Given the description of an element on the screen output the (x, y) to click on. 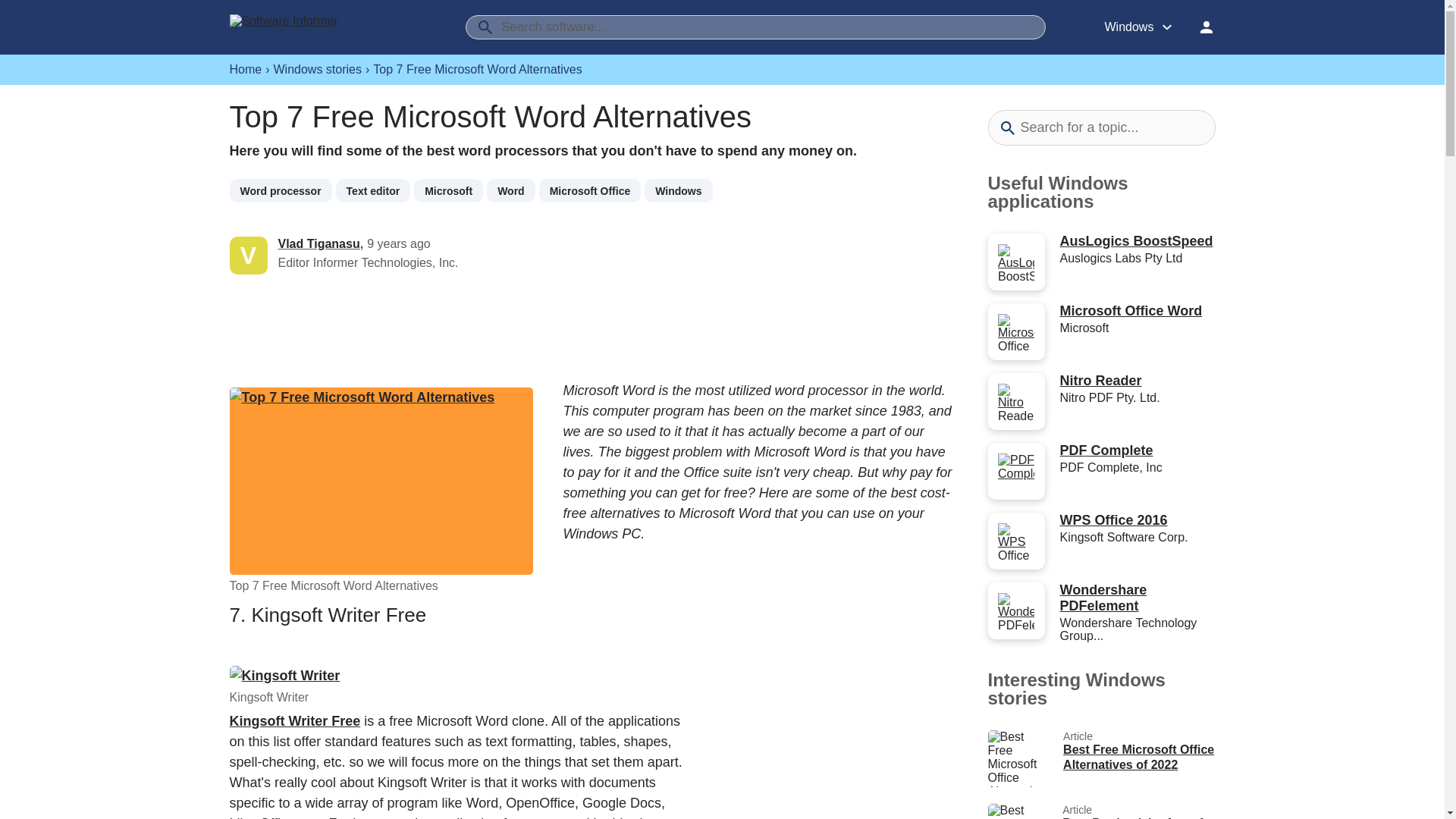
Top 7 Free Microsoft Word Alternatives (380, 480)
Word (510, 190)
Search software... (755, 27)
Windows (678, 190)
Home (245, 69)
Software downloads and reviews (312, 26)
V (253, 255)
Kingsoft Writer Free (293, 720)
Vlad Tiganasu (318, 243)
Word processor (279, 190)
Windows stories (317, 69)
Text editor (373, 190)
Microsoft Office (590, 190)
